Given the description of an element on the screen output the (x, y) to click on. 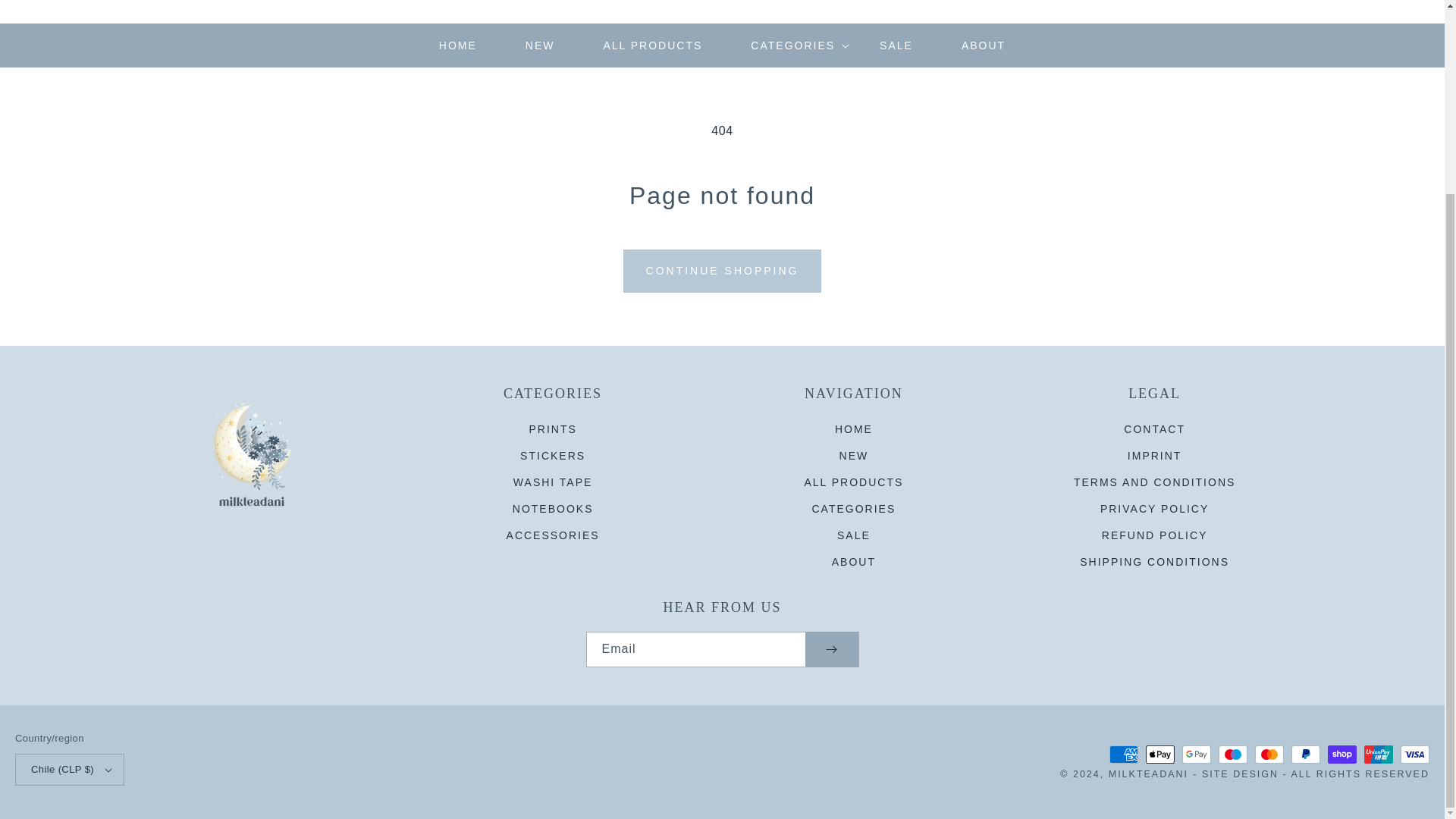
NEW (539, 45)
HOME (457, 45)
ALL PRODUCTS (652, 45)
